Given the description of an element on the screen output the (x, y) to click on. 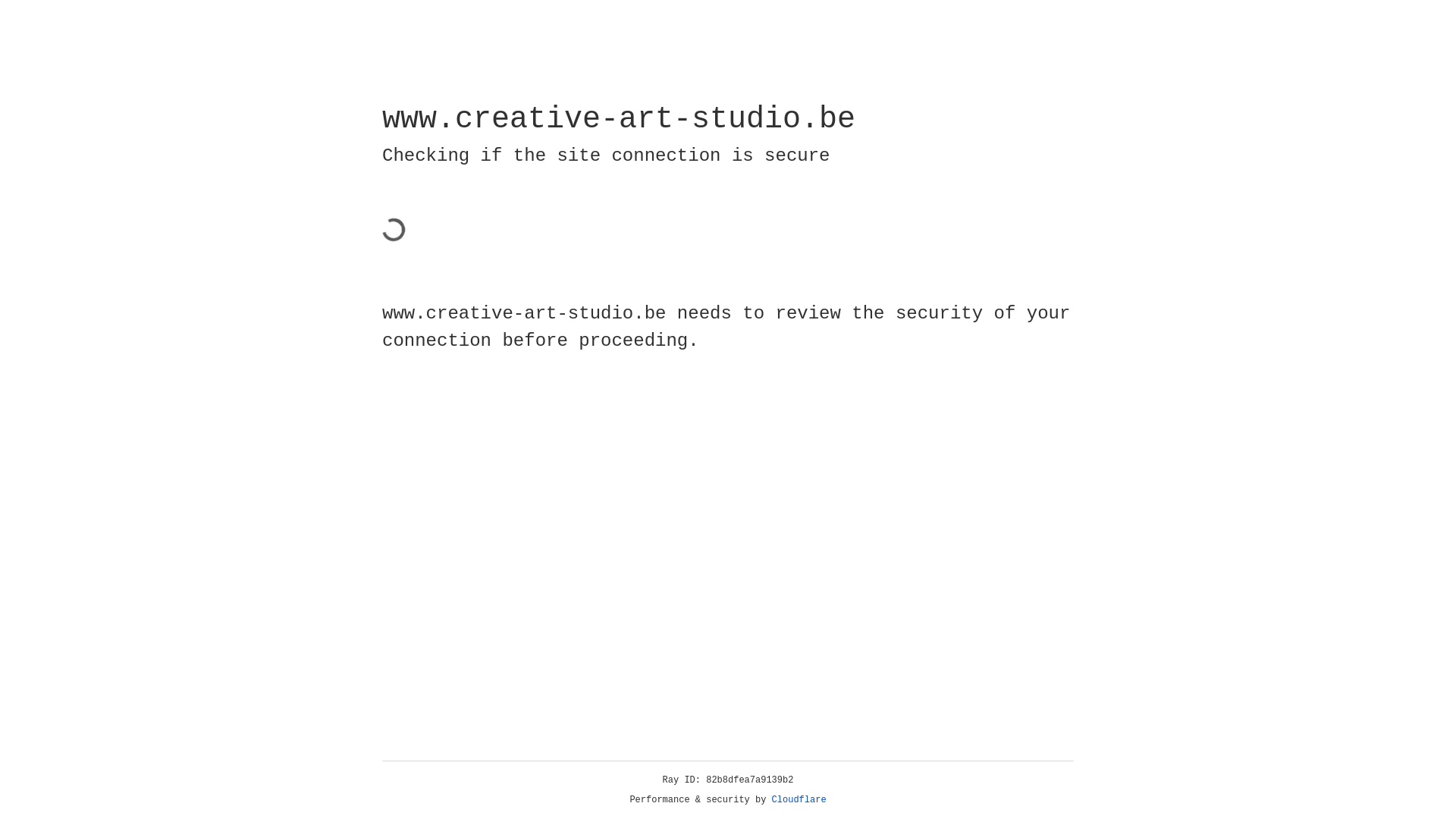
Cloudflare Element type: text (798, 799)
